Given the description of an element on the screen output the (x, y) to click on. 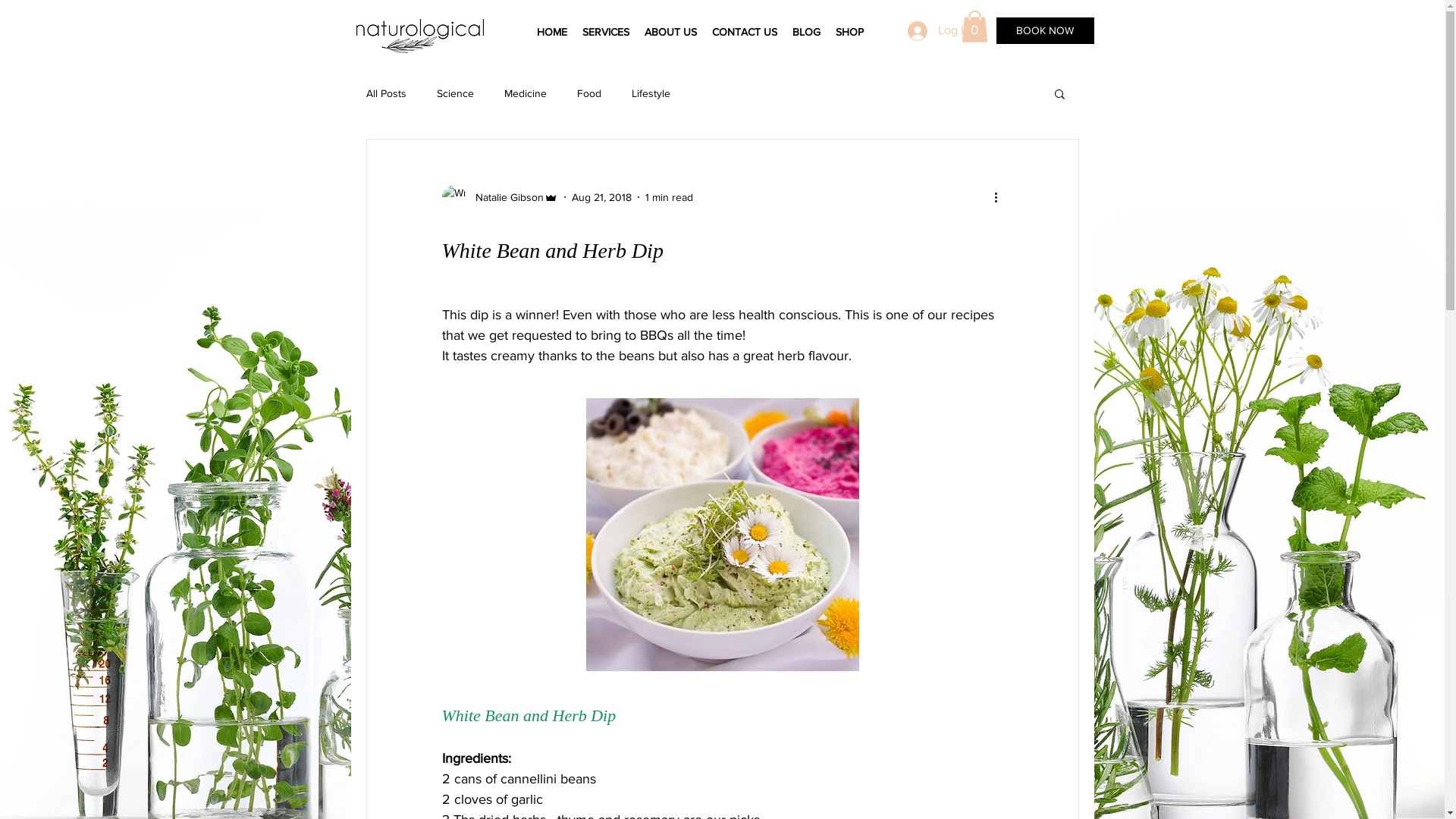
CONTACT US Element type: text (743, 31)
Science Element type: text (454, 93)
BOOK NOW Element type: text (1045, 30)
ABOUT US Element type: text (670, 31)
Lifestyle Element type: text (649, 93)
HOME Element type: text (551, 31)
BLOG Element type: text (805, 31)
SERVICES Element type: text (605, 31)
SHOP Element type: text (849, 31)
Log In Element type: text (938, 30)
Medicine Element type: text (524, 93)
Natalie Gibson Element type: text (499, 197)
0 Element type: text (974, 26)
All Posts Element type: text (385, 93)
Food Element type: text (588, 93)
